Given the description of an element on the screen output the (x, y) to click on. 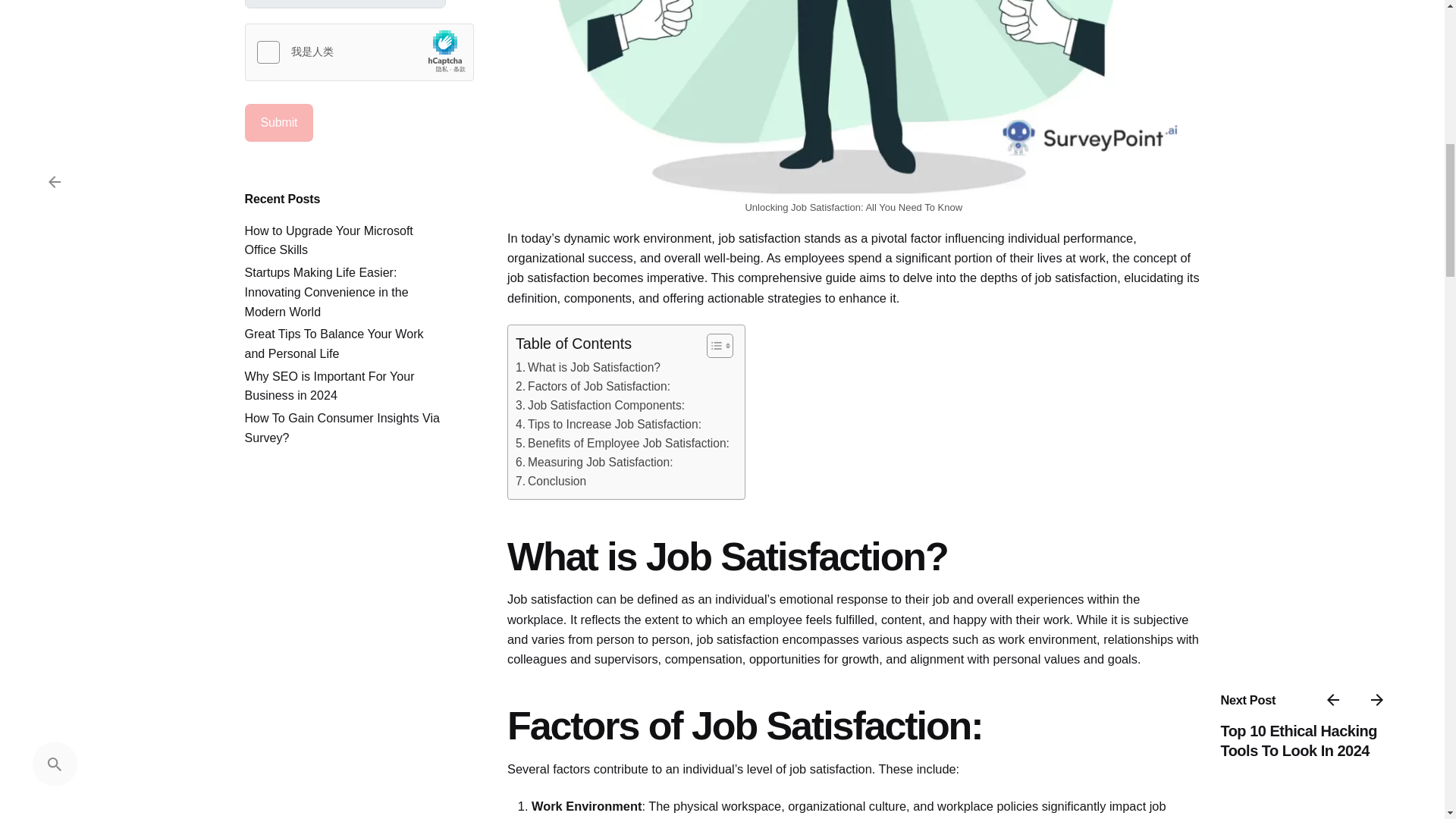
How To Gain Consumer Insights Via Survey? (341, 427)
What is Job Satisfaction? (588, 367)
Great Tips To Balance Your Work and Personal Life (333, 343)
Why SEO is Important For Your Business in 2024 (328, 385)
Job Satisfaction Components: (599, 405)
Benefits of Employee Job Satisfaction: (622, 443)
Conclusion (550, 481)
Submit (278, 122)
Tips to Increase Job Satisfaction: (608, 424)
